Given the description of an element on the screen output the (x, y) to click on. 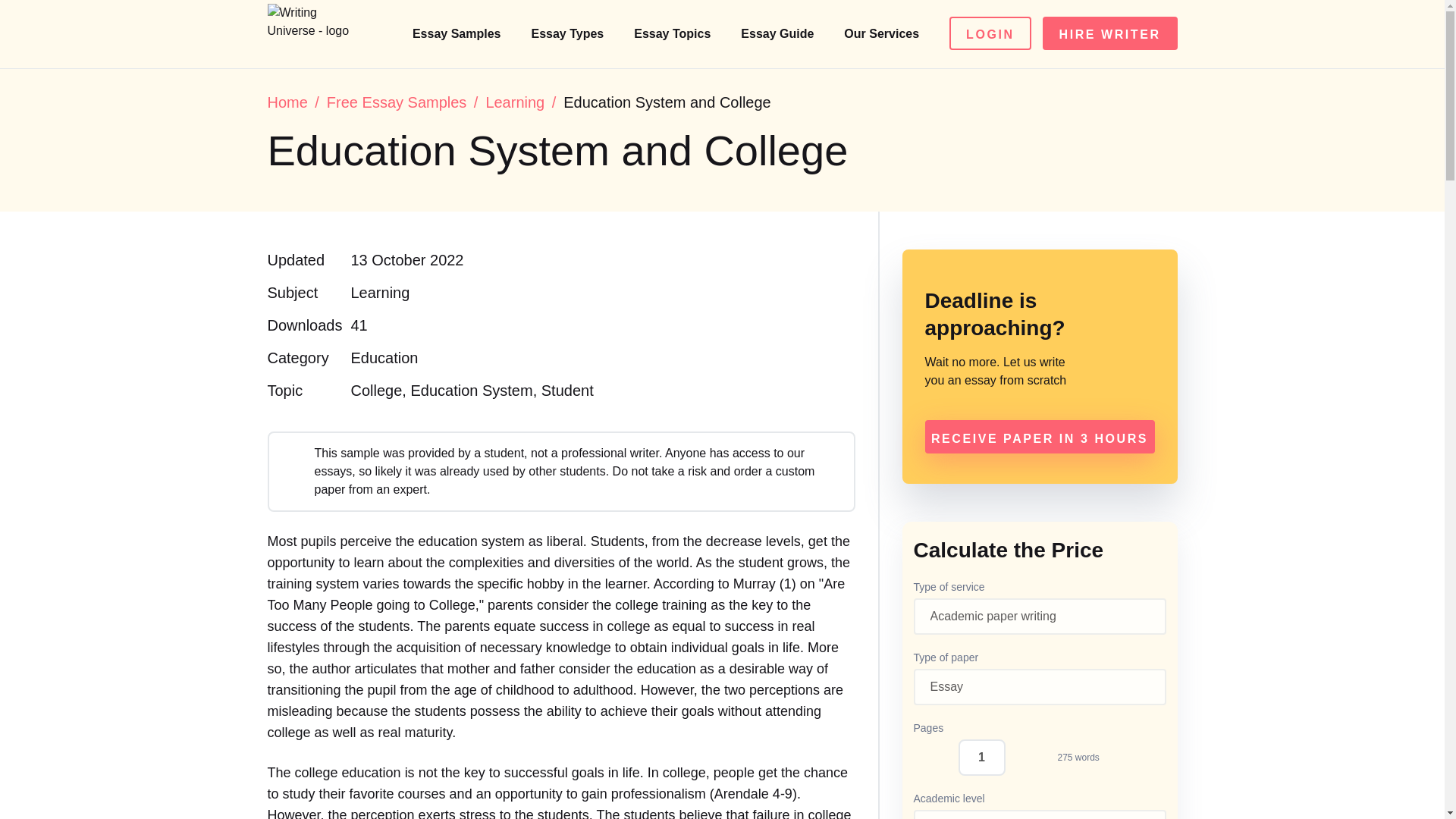
Essay Types (569, 33)
1 (982, 757)
Essay Samples (458, 33)
